Given the description of an element on the screen output the (x, y) to click on. 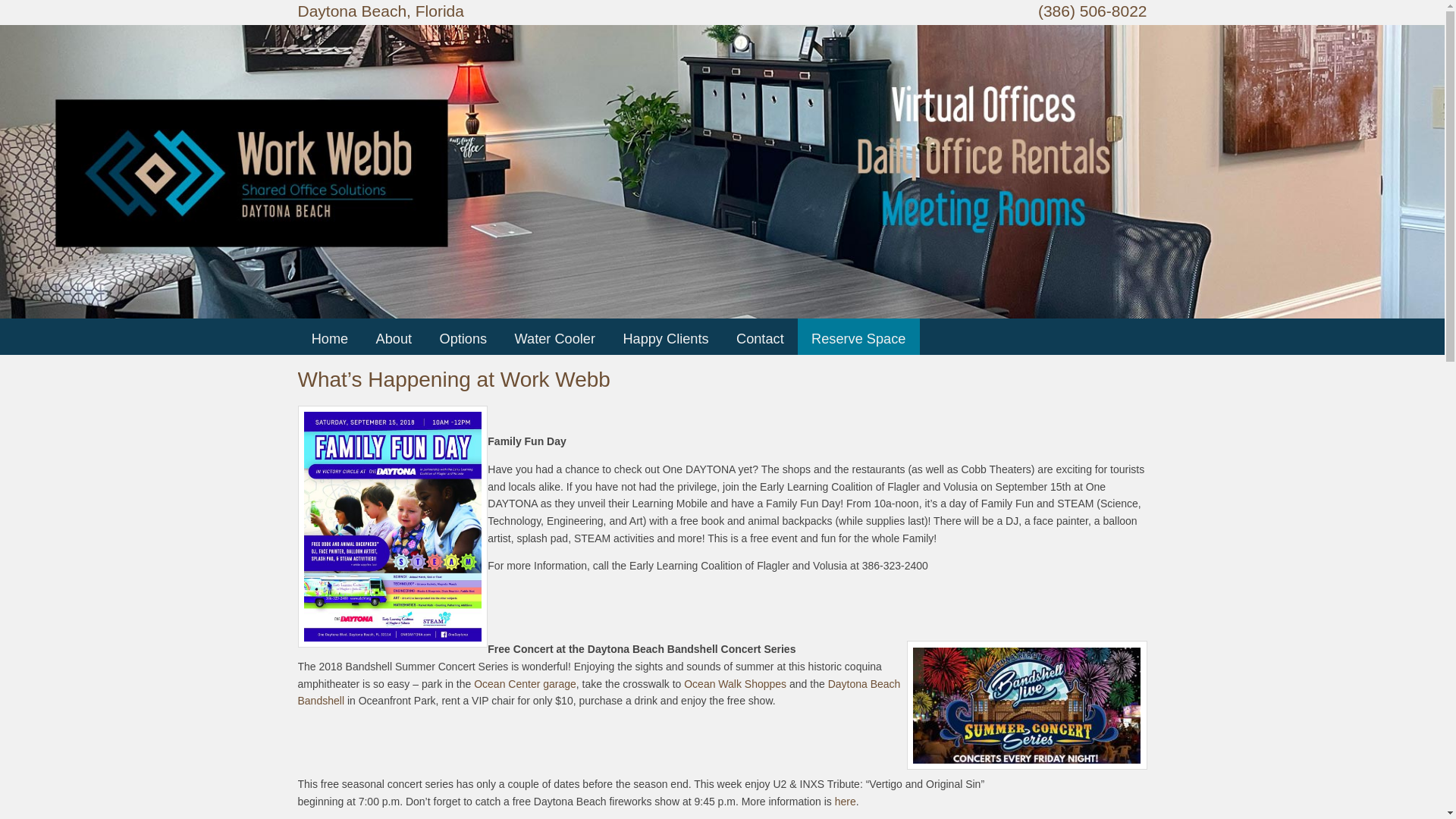
Water Cooler (555, 339)
Options (462, 339)
Ocean Walk Shoppes (735, 684)
Ocean Center garage (525, 684)
Daytona Beach Bandshell (598, 692)
About (393, 339)
Reserve Space (857, 339)
here (845, 801)
Contact (760, 339)
Home (330, 339)
Happy Clients (665, 339)
